Given the description of an element on the screen output the (x, y) to click on. 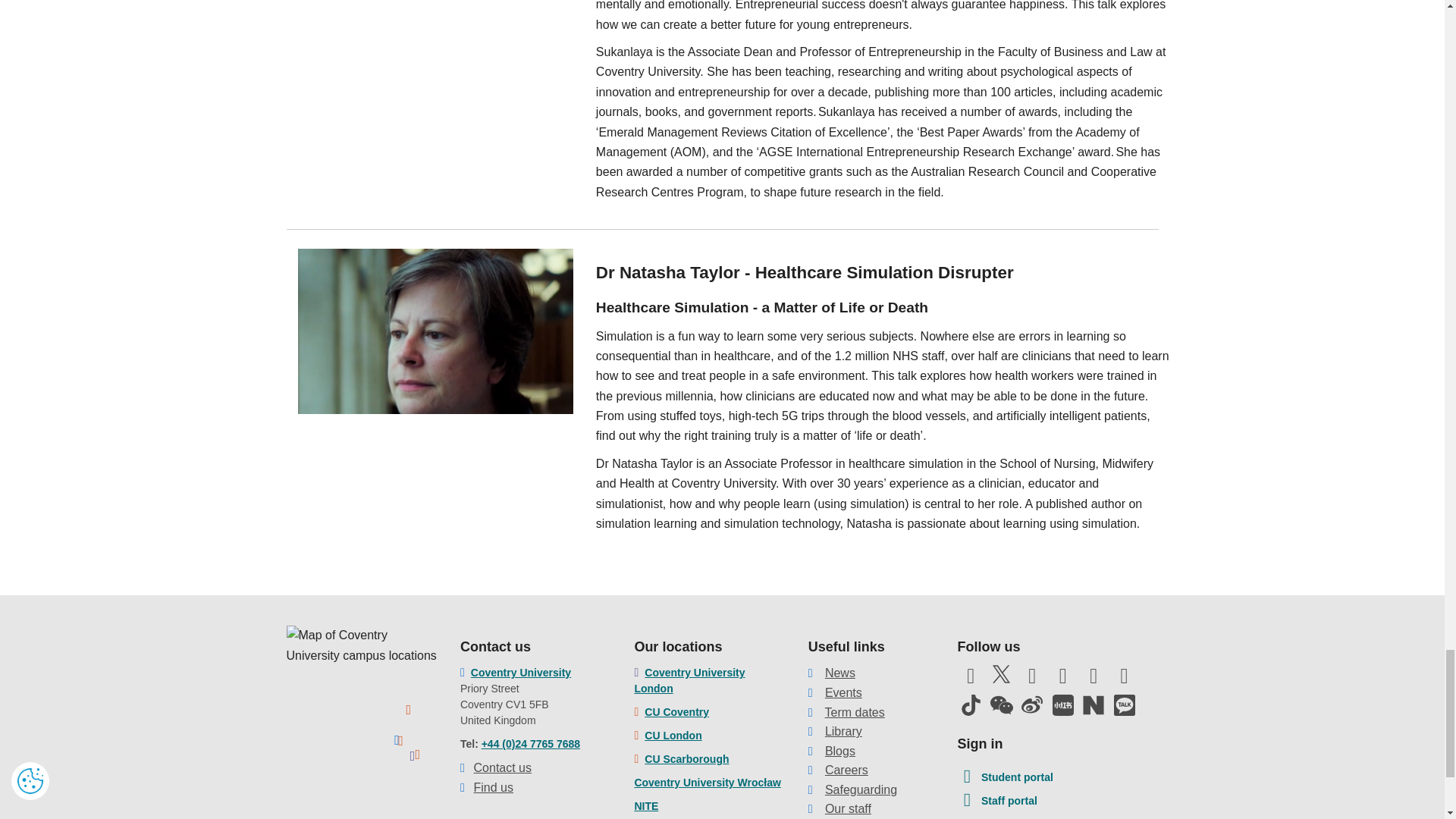
Term dates (855, 712)
Careers (846, 769)
Subscribe to our YouTube Channel (1031, 679)
Library (843, 730)
Follow us on TikTok (970, 704)
Follow us on Instagram (1063, 679)
News (840, 672)
Like us on Facebook (970, 679)
Events (843, 692)
Connect with us on Linkedin (1093, 679)
